Given the description of an element on the screen output the (x, y) to click on. 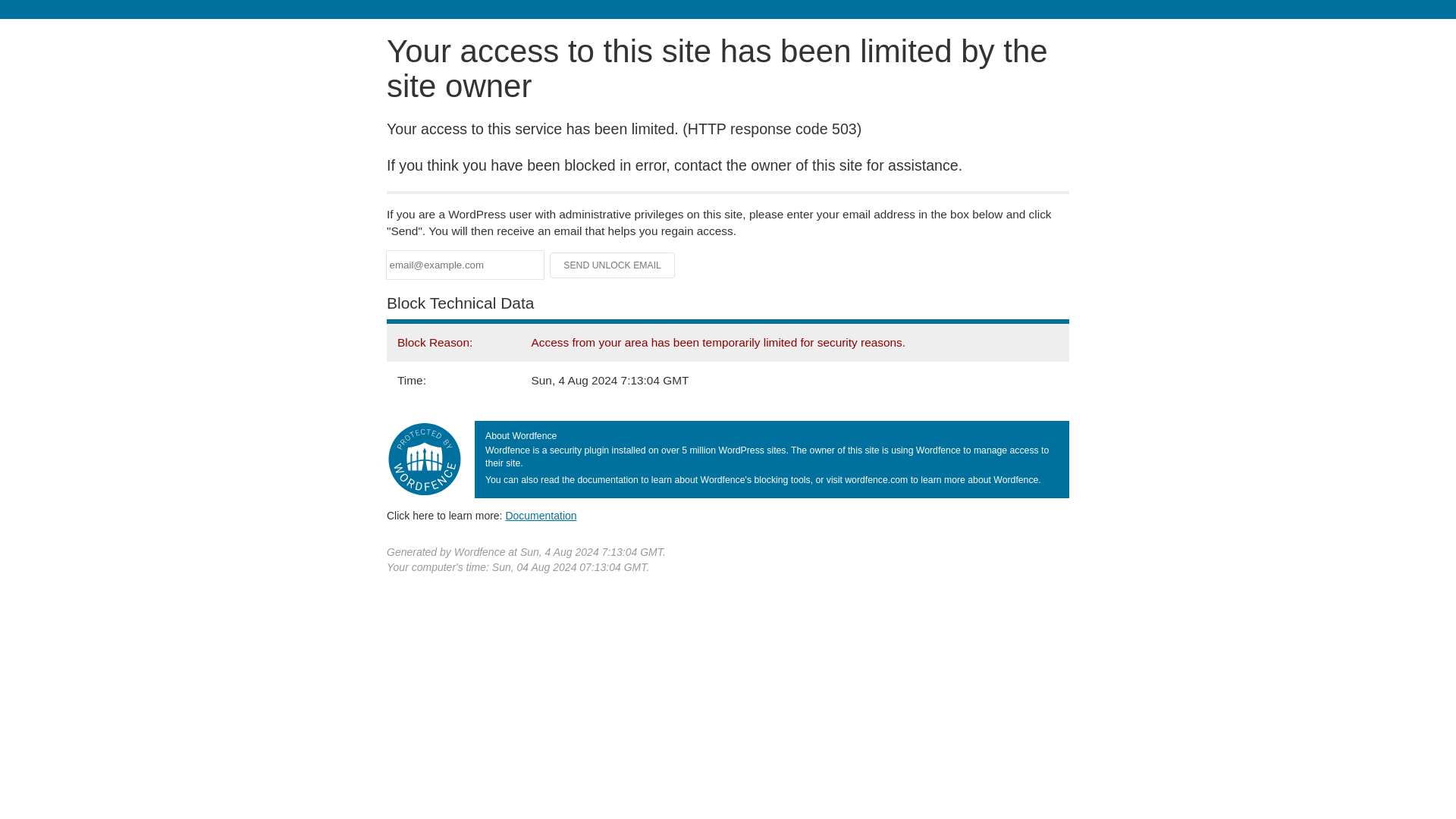
Send Unlock Email (612, 265)
Send Unlock Email (612, 265)
Documentation (540, 515)
